Given the description of an element on the screen output the (x, y) to click on. 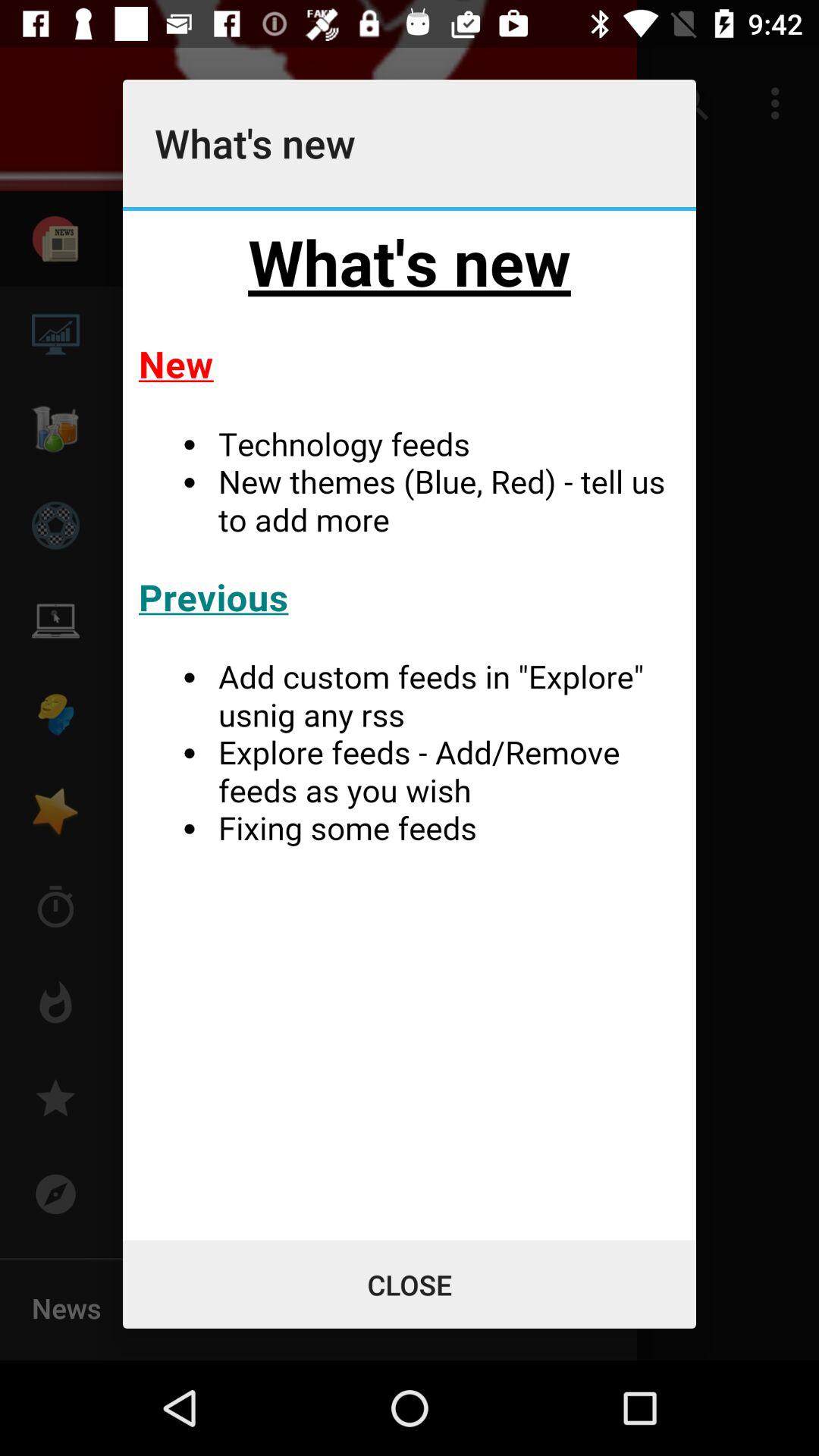
information about what 's new in the app (409, 725)
